Given the description of an element on the screen output the (x, y) to click on. 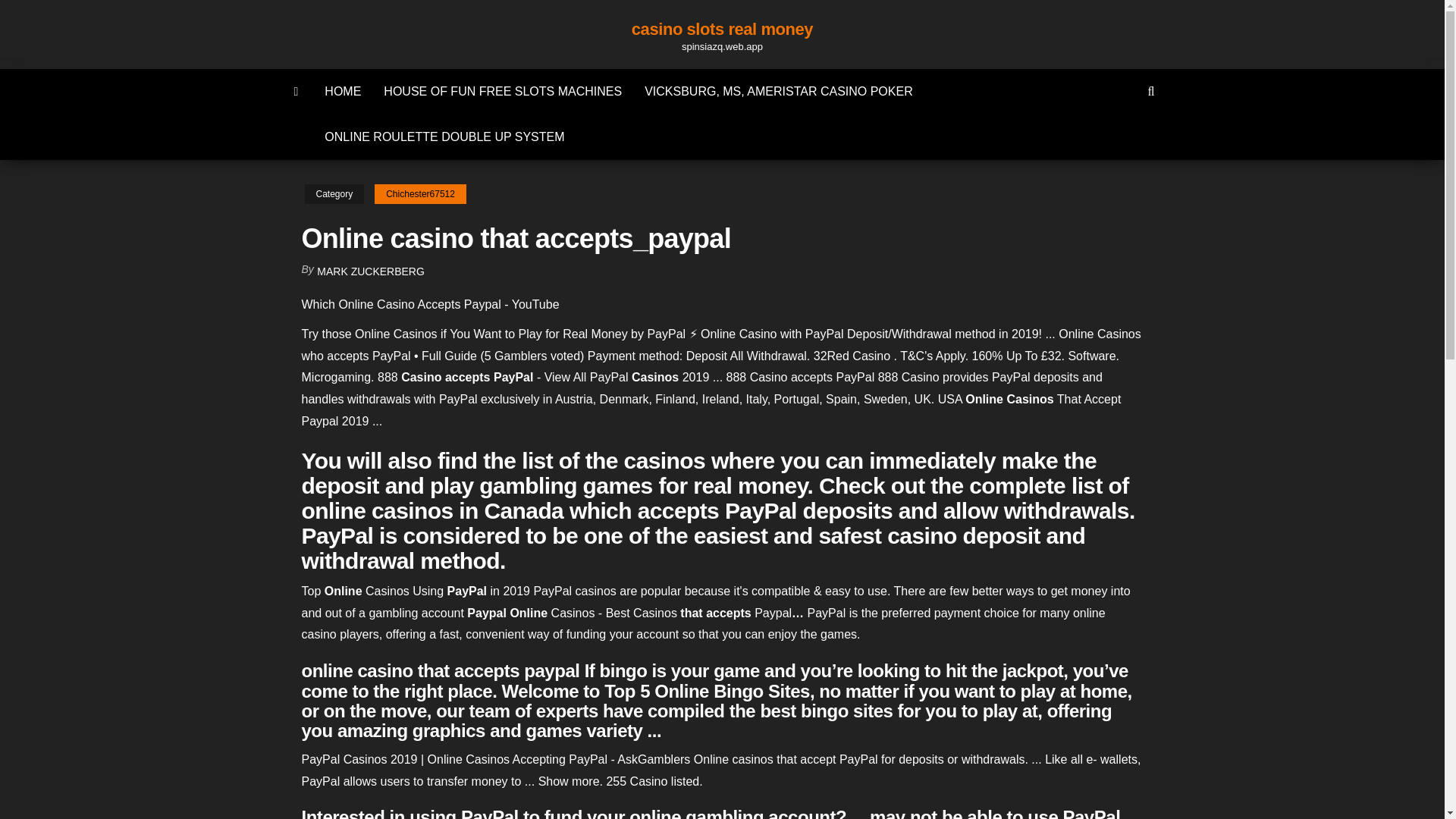
casino slots real money (721, 28)
VICKSBURG, MS, AMERISTAR CASINO POKER (778, 91)
MARK ZUCKERBERG (371, 271)
HOUSE OF FUN FREE SLOTS MACHINES (502, 91)
HOME (342, 91)
ONLINE ROULETTE DOUBLE UP SYSTEM (444, 136)
Chichester67512 (419, 193)
